Given the description of an element on the screen output the (x, y) to click on. 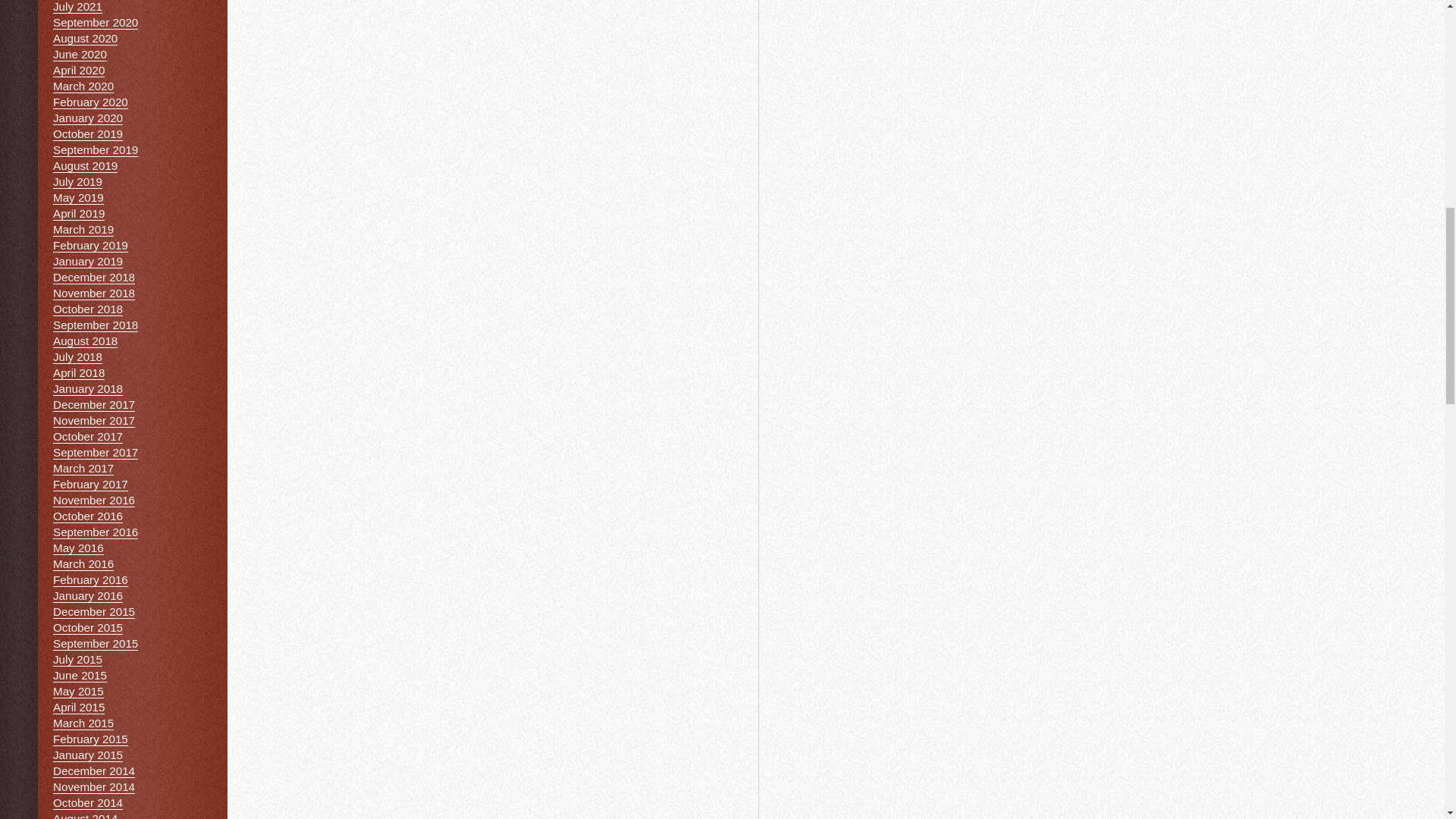
July 2021 (76, 6)
June 2020 (79, 54)
February 2020 (90, 101)
August 2020 (84, 38)
September 2020 (95, 22)
April 2020 (78, 69)
March 2020 (82, 86)
